Given the description of an element on the screen output the (x, y) to click on. 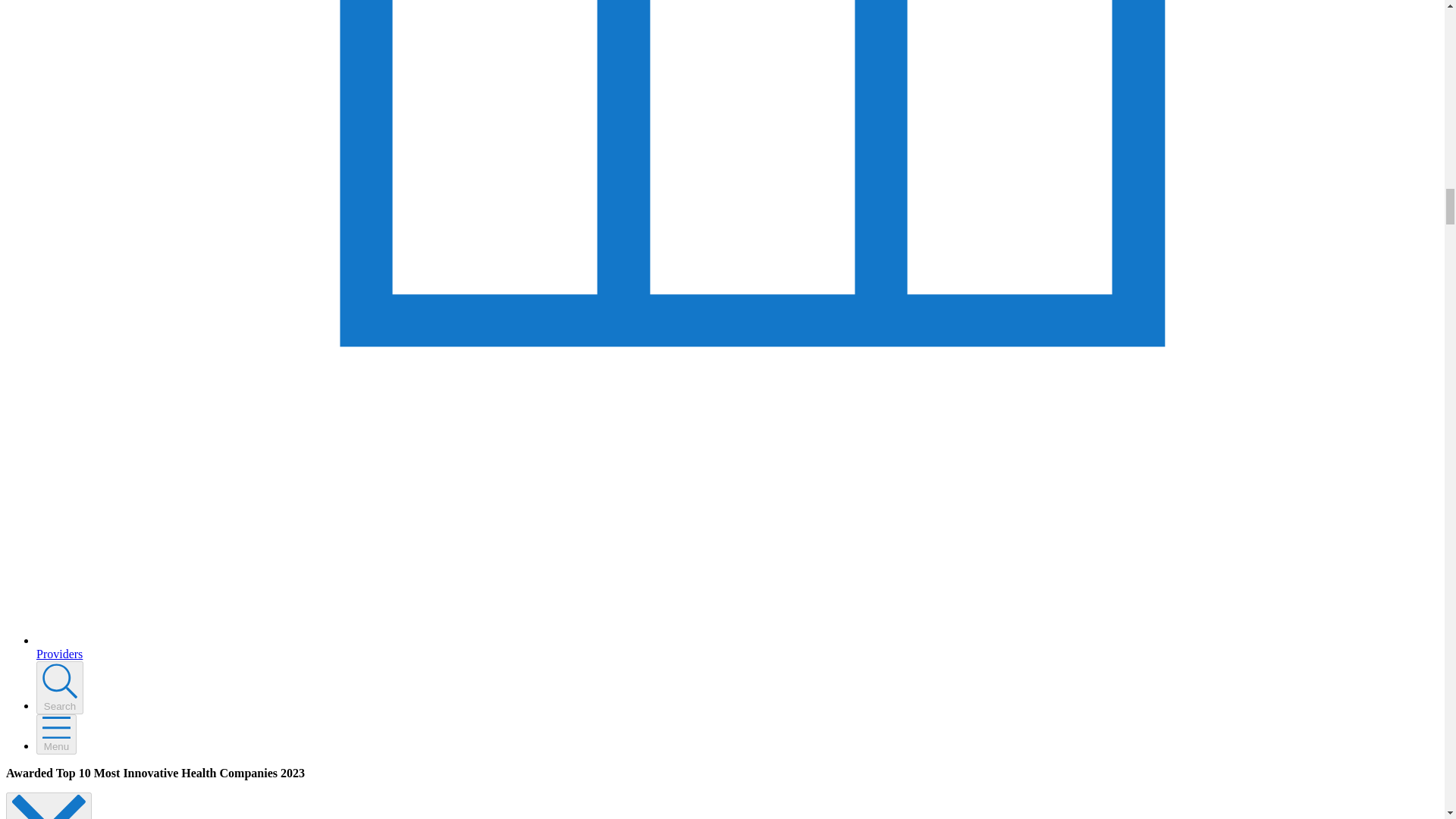
Close This Alert (48, 805)
Menu (56, 734)
